Given the description of an element on the screen output the (x, y) to click on. 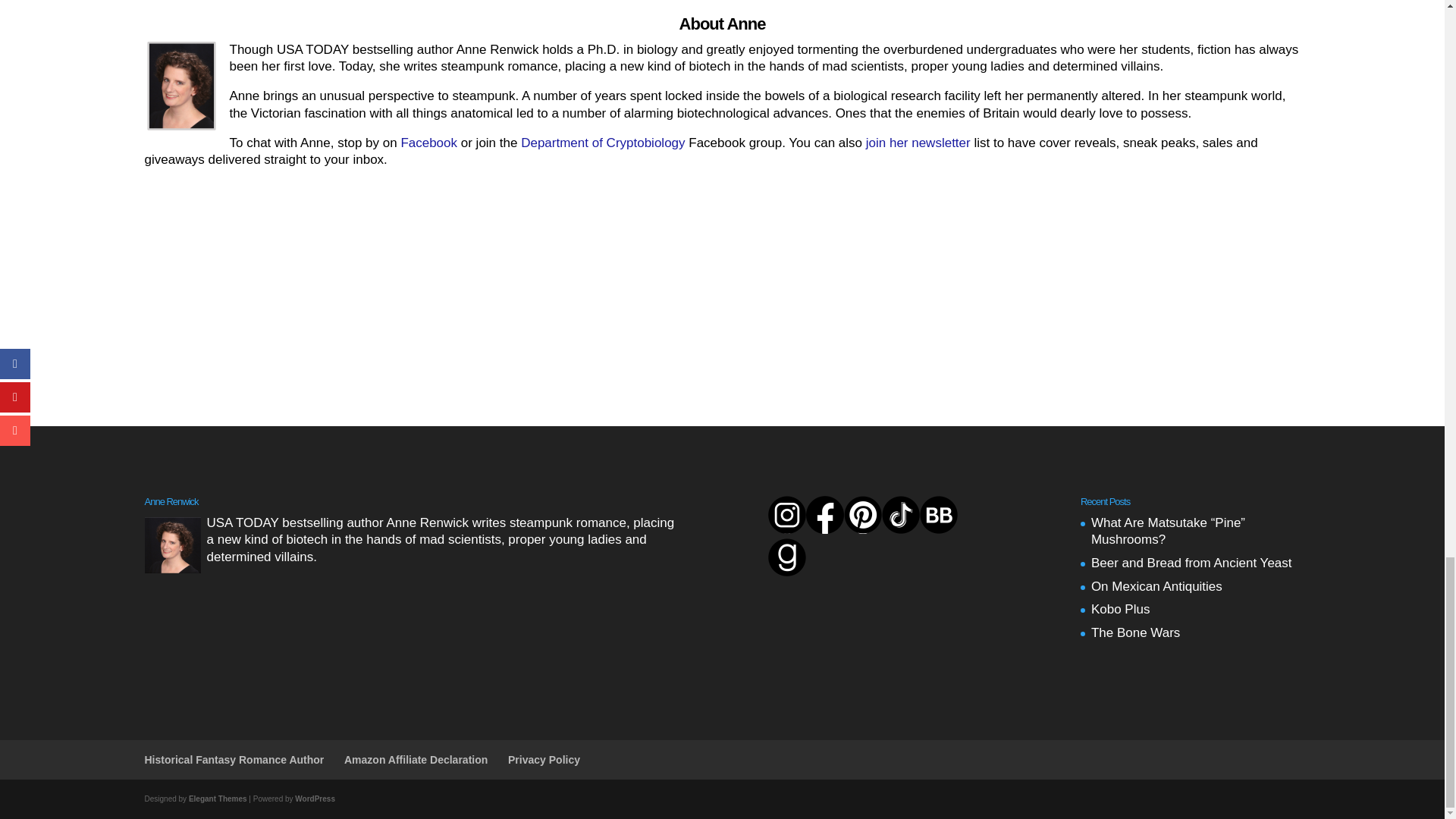
Premium WordPress Themes (218, 798)
Beer and Bread from Ancient Yeast (1191, 563)
Department of Cryptobiology (602, 142)
Facebook (428, 142)
join her newsletter (918, 142)
On Mexican Antiquities (1156, 586)
Kobo Plus (1120, 608)
